Given the description of an element on the screen output the (x, y) to click on. 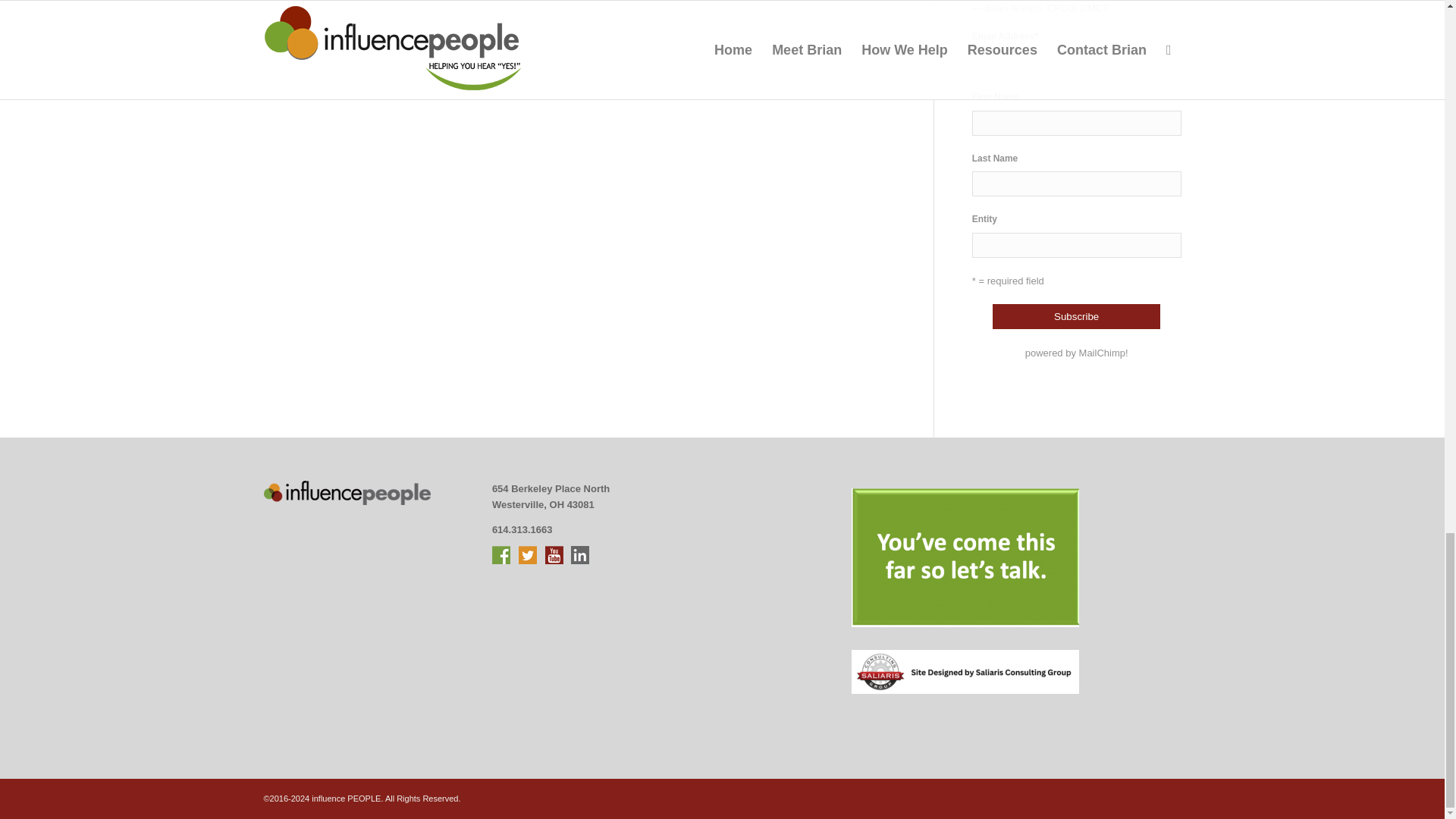
Subscribe (1076, 316)
